Given the description of an element on the screen output the (x, y) to click on. 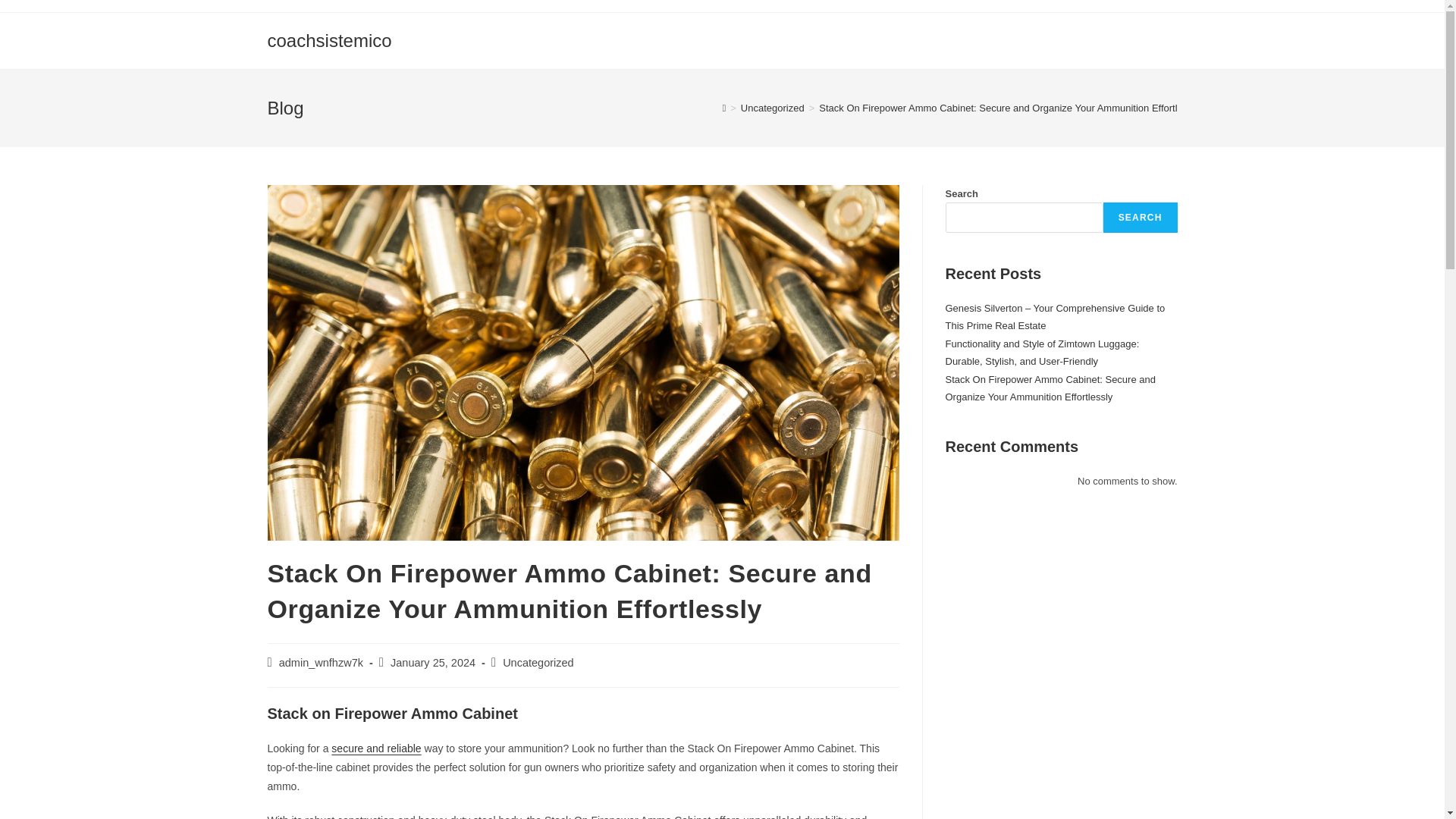
Uncategorized (537, 662)
coachsistemico (328, 40)
SEARCH (1140, 217)
Uncategorized (773, 107)
secure and reliable (375, 748)
